Given the description of an element on the screen output the (x, y) to click on. 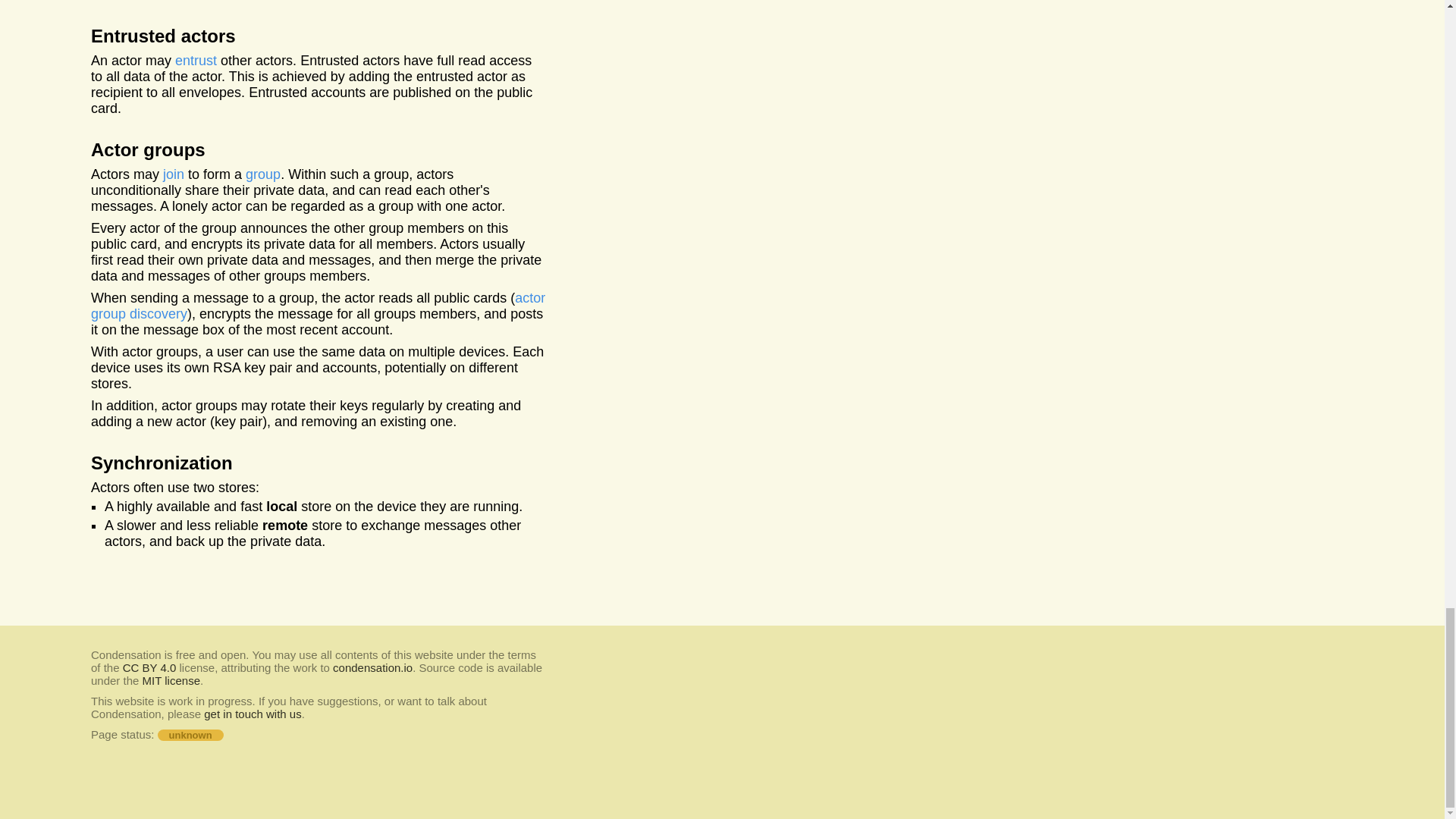
actor group discovery (317, 305)
MIT license (195, 60)
group (171, 680)
CC BY 4.0 (263, 174)
condensation.io (149, 667)
get in touch with us (372, 667)
join (252, 713)
